Given the description of an element on the screen output the (x, y) to click on. 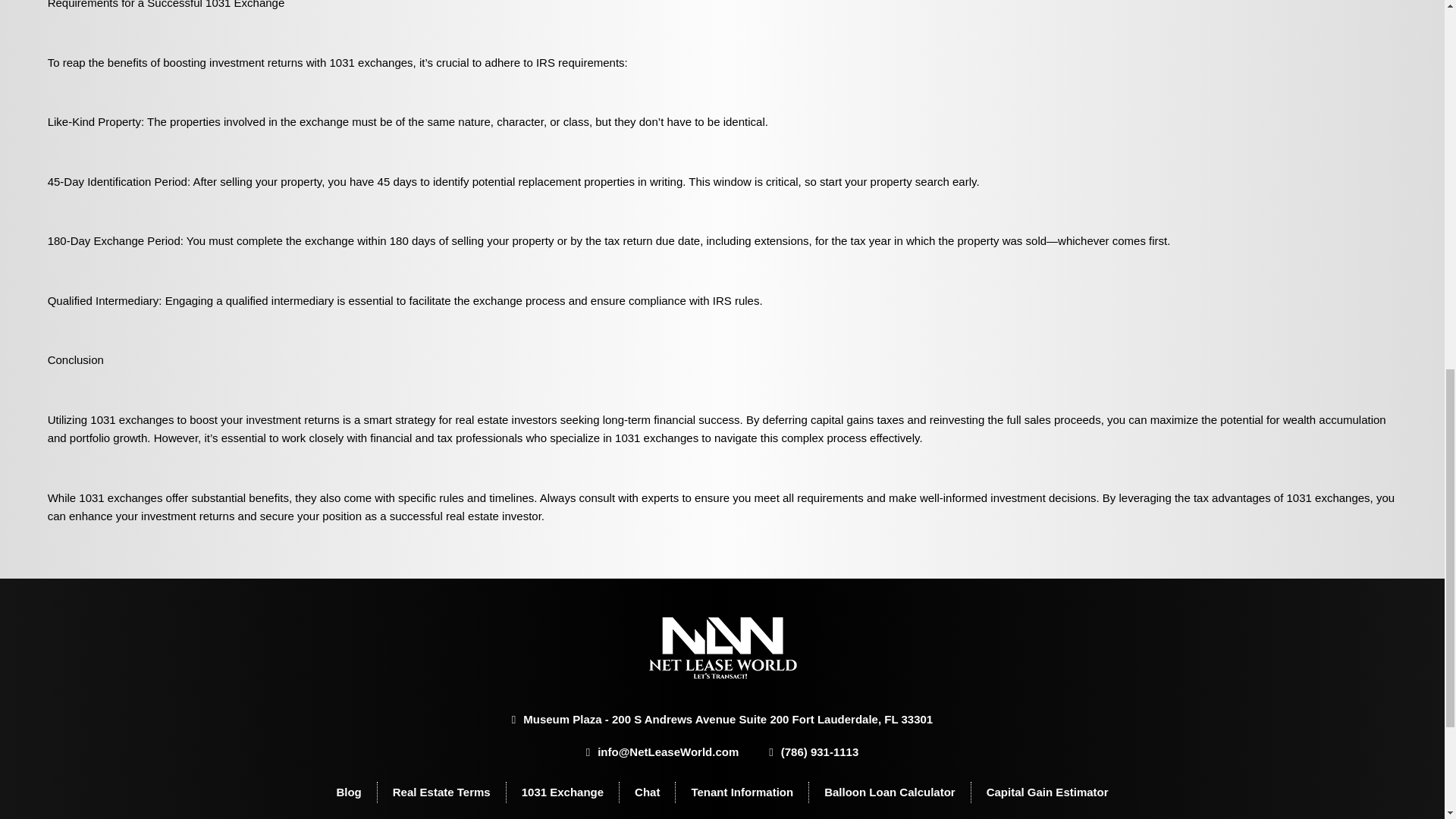
Real Estate Terms (441, 791)
Blog (348, 791)
Balloon Loan Calculator (889, 791)
Tenant Information (741, 791)
1031 Exchange (562, 791)
Chat (646, 791)
Capital Gain Estimator (1047, 791)
